Given the description of an element on the screen output the (x, y) to click on. 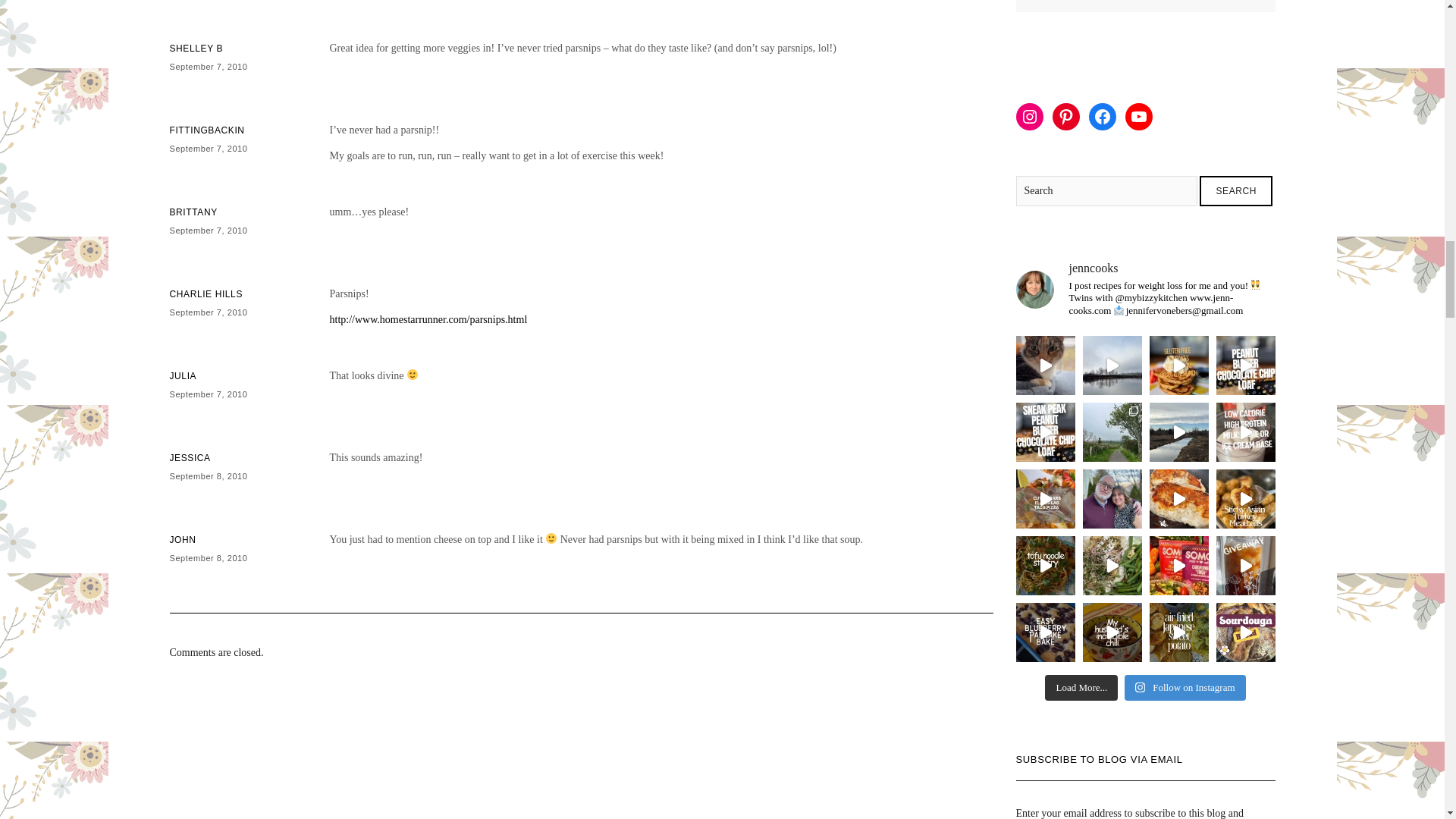
FITTINGBACKIN (207, 130)
BRITTANY (193, 212)
September 7, 2010 (208, 148)
September 7, 2010 (208, 230)
September 7, 2010 (208, 66)
SHELLEY B (197, 48)
